Given the description of an element on the screen output the (x, y) to click on. 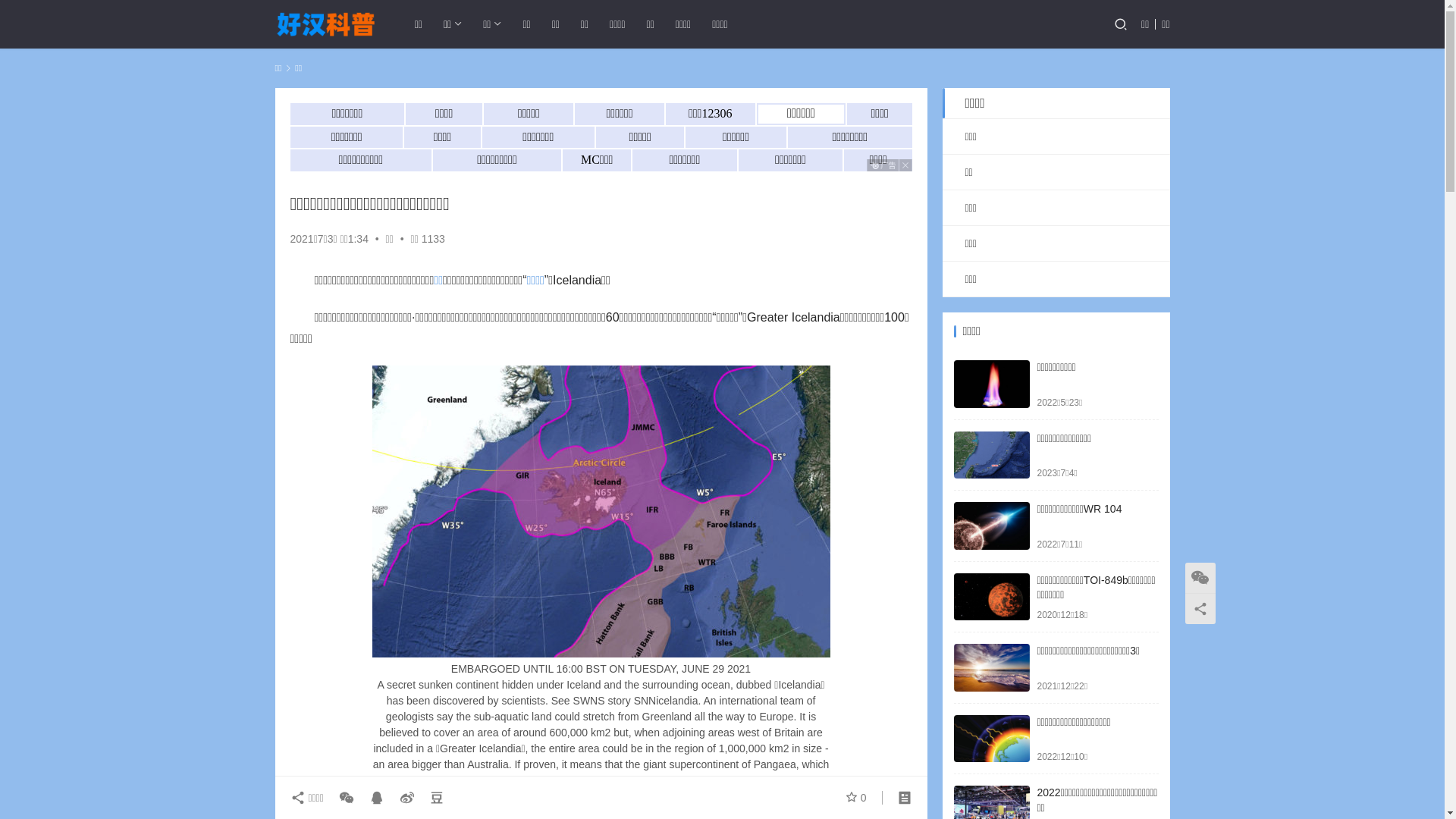
0 Element type: text (855, 797)
